Given the description of an element on the screen output the (x, y) to click on. 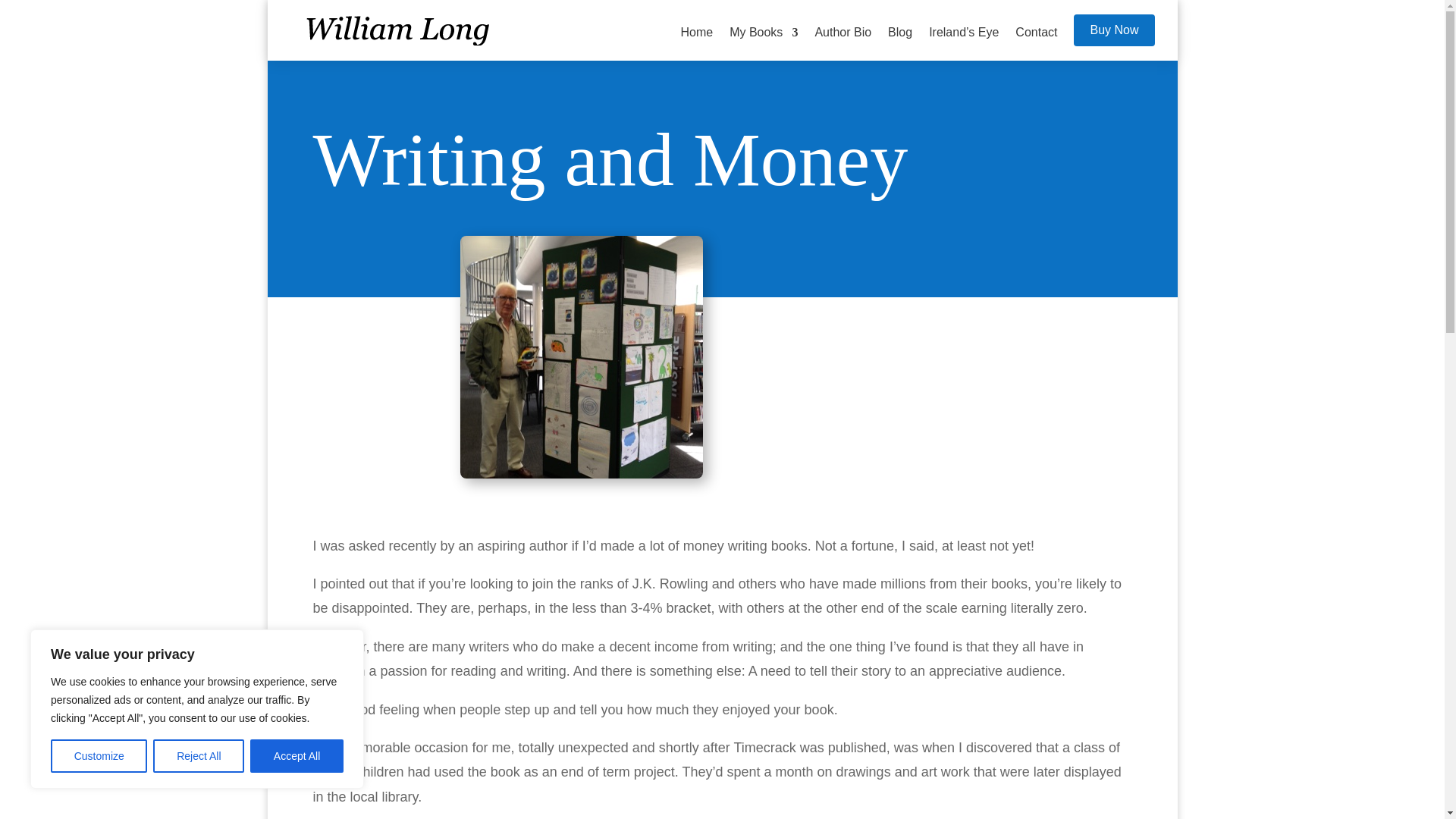
Reject All (198, 756)
Library Timecrack Display (581, 356)
Contact (1035, 43)
flexile-black-logo (402, 30)
Customize (98, 756)
Home (696, 43)
Author Bio (841, 43)
My Books (763, 43)
Buy Now (1114, 29)
Accept All (296, 756)
